Given the description of an element on the screen output the (x, y) to click on. 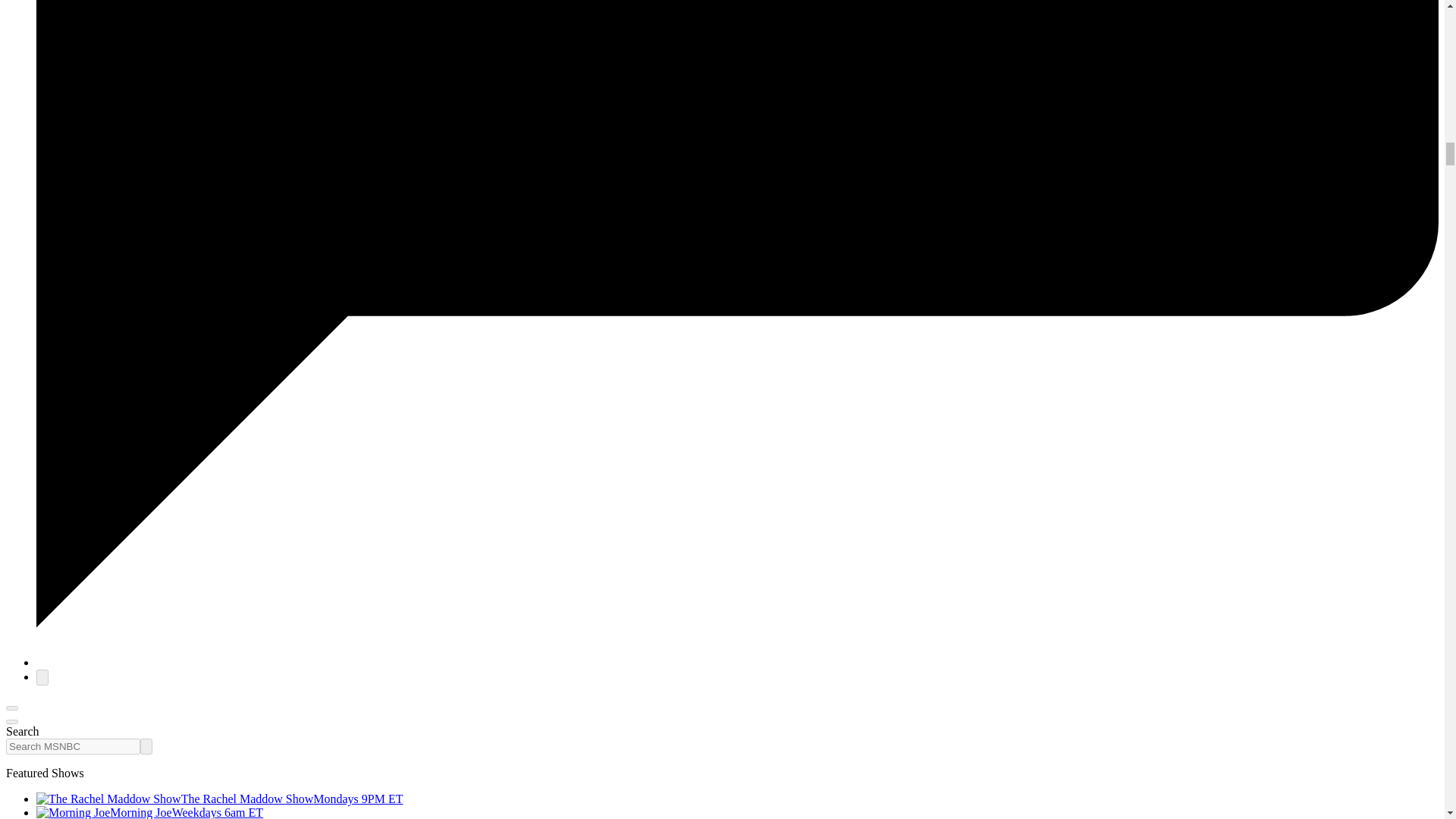
Morning JoeWeekdays 6am ET (149, 812)
The Rachel Maddow ShowMondays 9PM ET (219, 798)
